Given the description of an element on the screen output the (x, y) to click on. 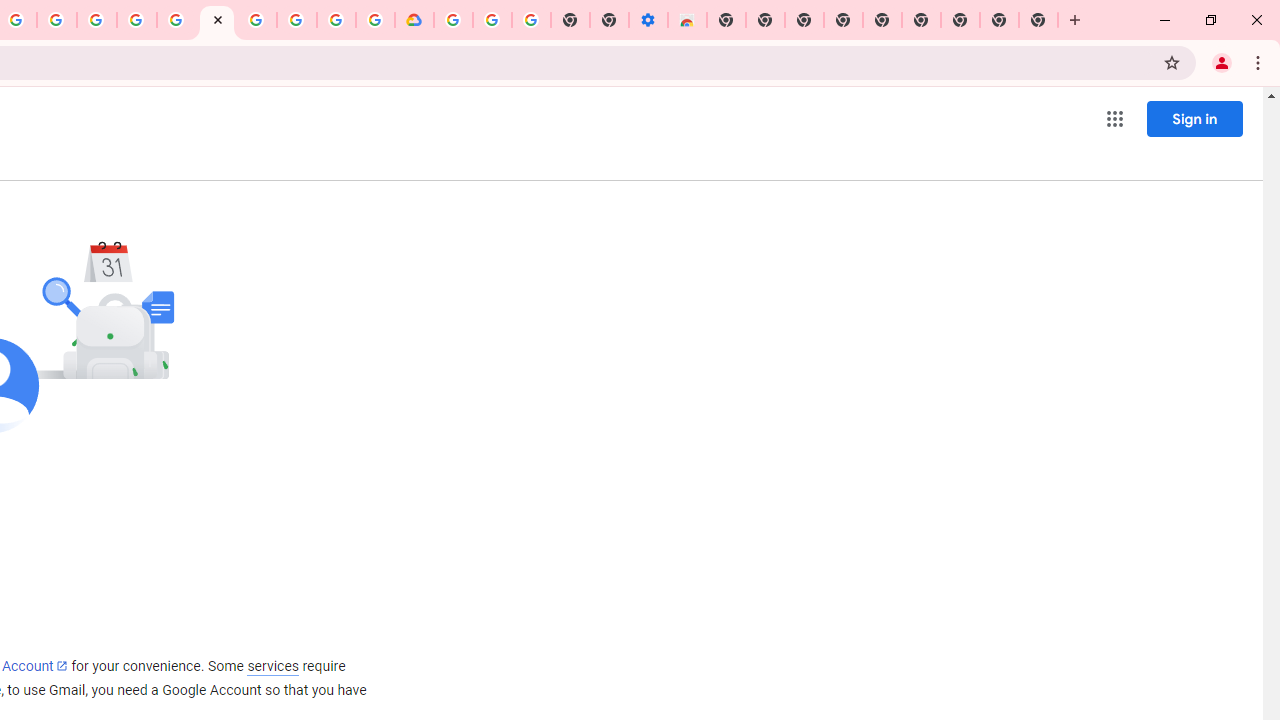
Create your Google Account (336, 20)
Create your Google Account (56, 20)
services (273, 666)
Google Account Help (256, 20)
New Tab (1038, 20)
Sign in - Google Accounts (177, 20)
Chrome Web Store - Accessibility extensions (687, 20)
Google Account Help (491, 20)
Settings - Accessibility (648, 20)
